Given the description of an element on the screen output the (x, y) to click on. 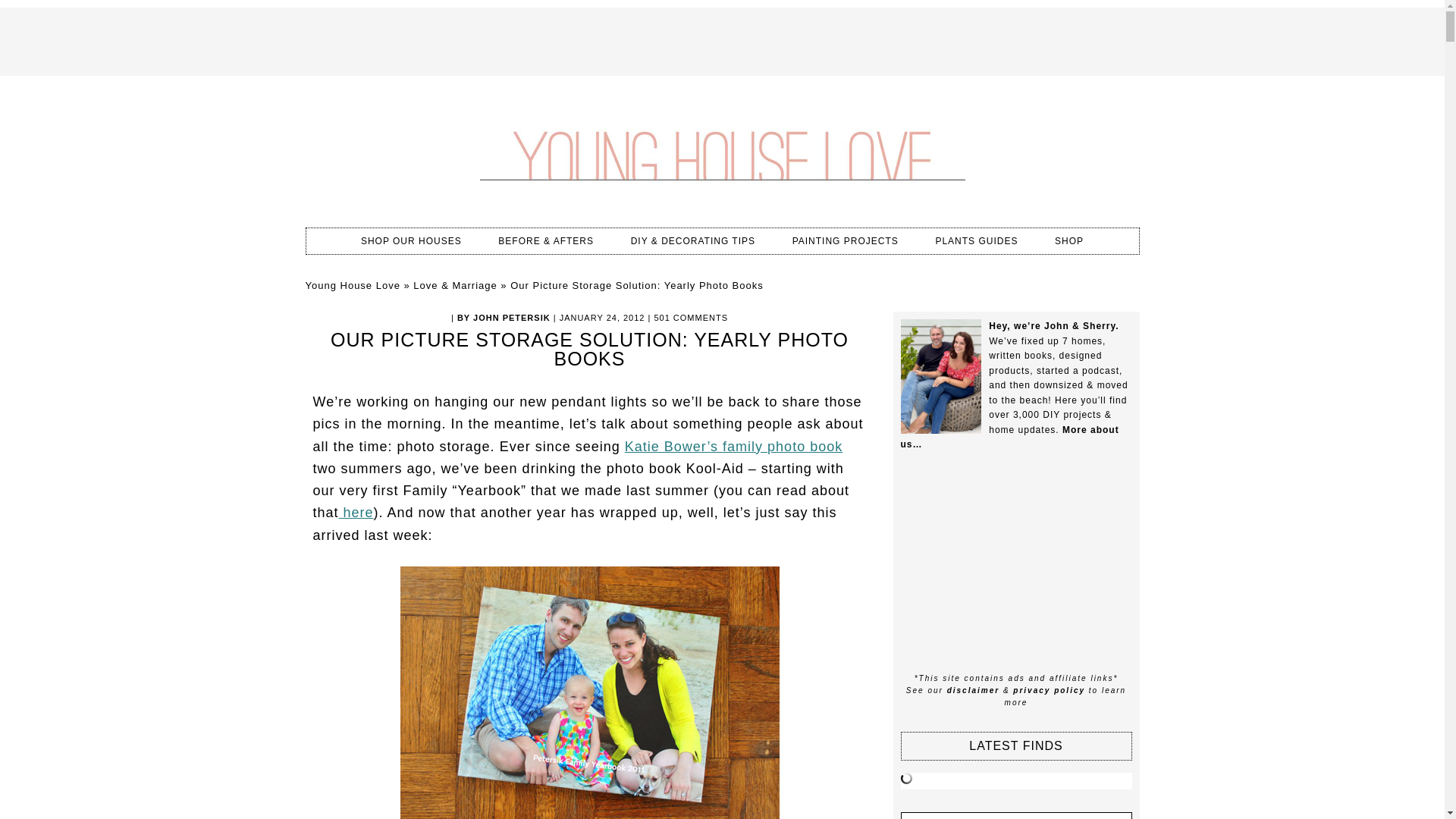
PAINTING PROJECTS (845, 240)
501 COMMENTS (690, 317)
here (356, 512)
SHOP OUR HOUSES (411, 240)
PLANTS GUIDES (975, 240)
View Sources For Our Current Home (411, 240)
YOUNG HOUSE LOVE (721, 151)
Before and After Photos Of Our Homes (545, 240)
SHOP (1069, 240)
